Given the description of an element on the screen output the (x, y) to click on. 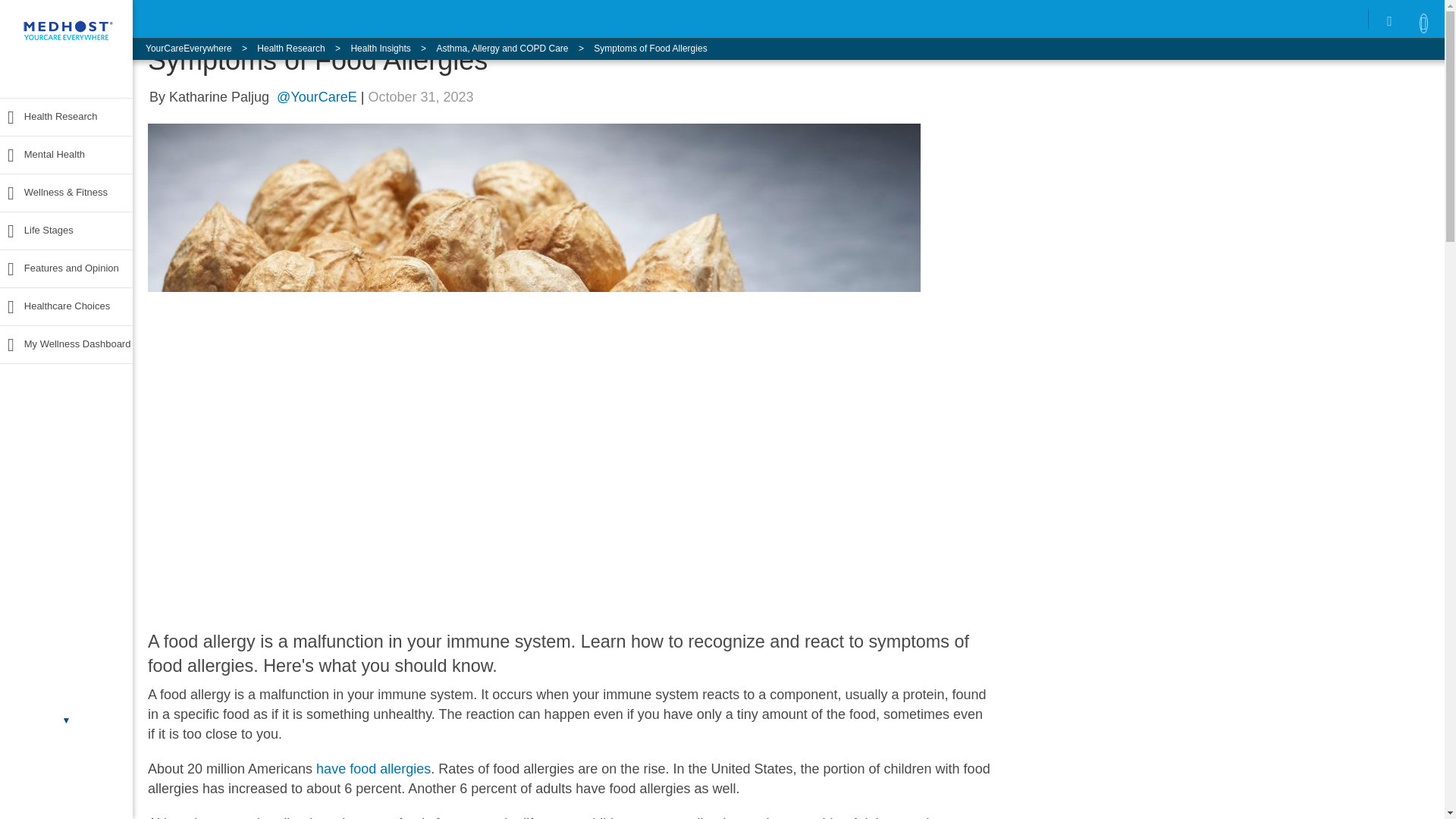
Health Research (303, 48)
Health Insights (392, 48)
Asthma, Allergy and COPD Care (514, 48)
Health Research (48, 116)
YourCareEverywhere (201, 48)
